Given the description of an element on the screen output the (x, y) to click on. 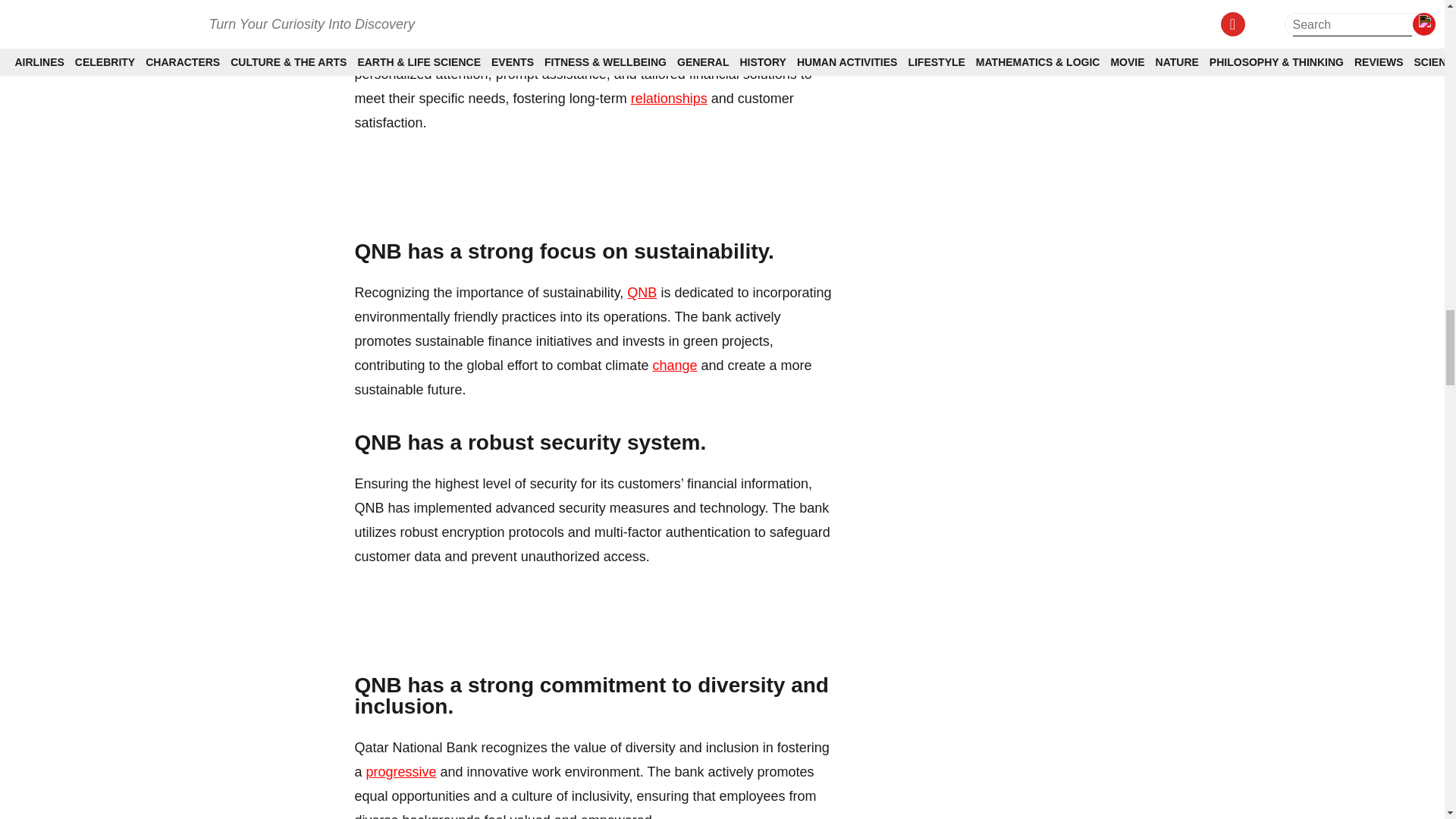
QNB (641, 292)
change (674, 365)
progressive (401, 771)
relationships (668, 98)
